Given the description of an element on the screen output the (x, y) to click on. 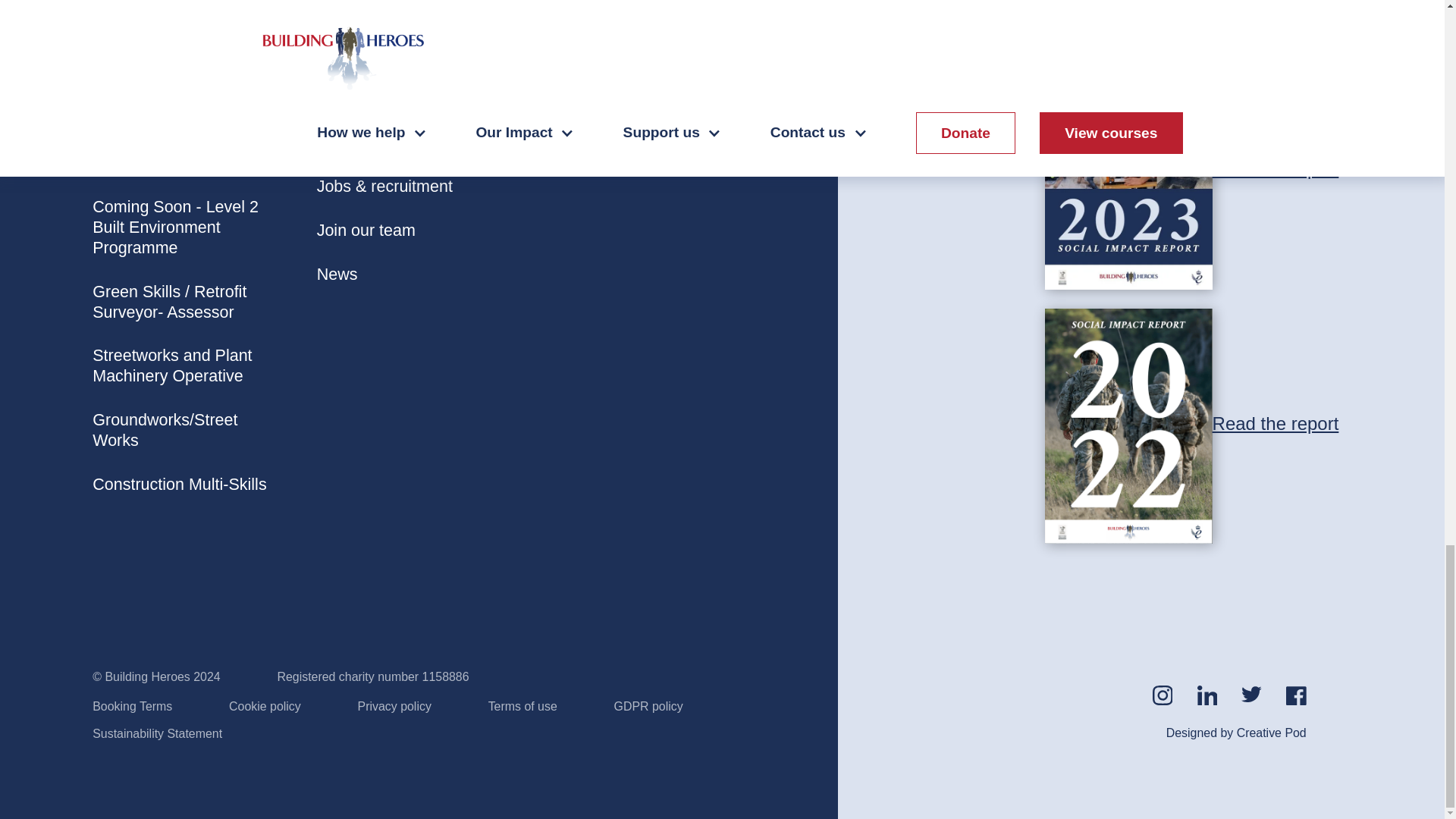
Success stories (406, 98)
Streetworks and Plant Machinery Operative (181, 366)
About us (406, 54)
Booking Terms (132, 706)
Non-military courses (181, 98)
On-site academies (406, 143)
Join our team (406, 231)
Support us (628, 54)
Coming Soon - Level 2 Built Environment Programme (181, 228)
Cookie policy (264, 706)
